Given the description of an element on the screen output the (x, y) to click on. 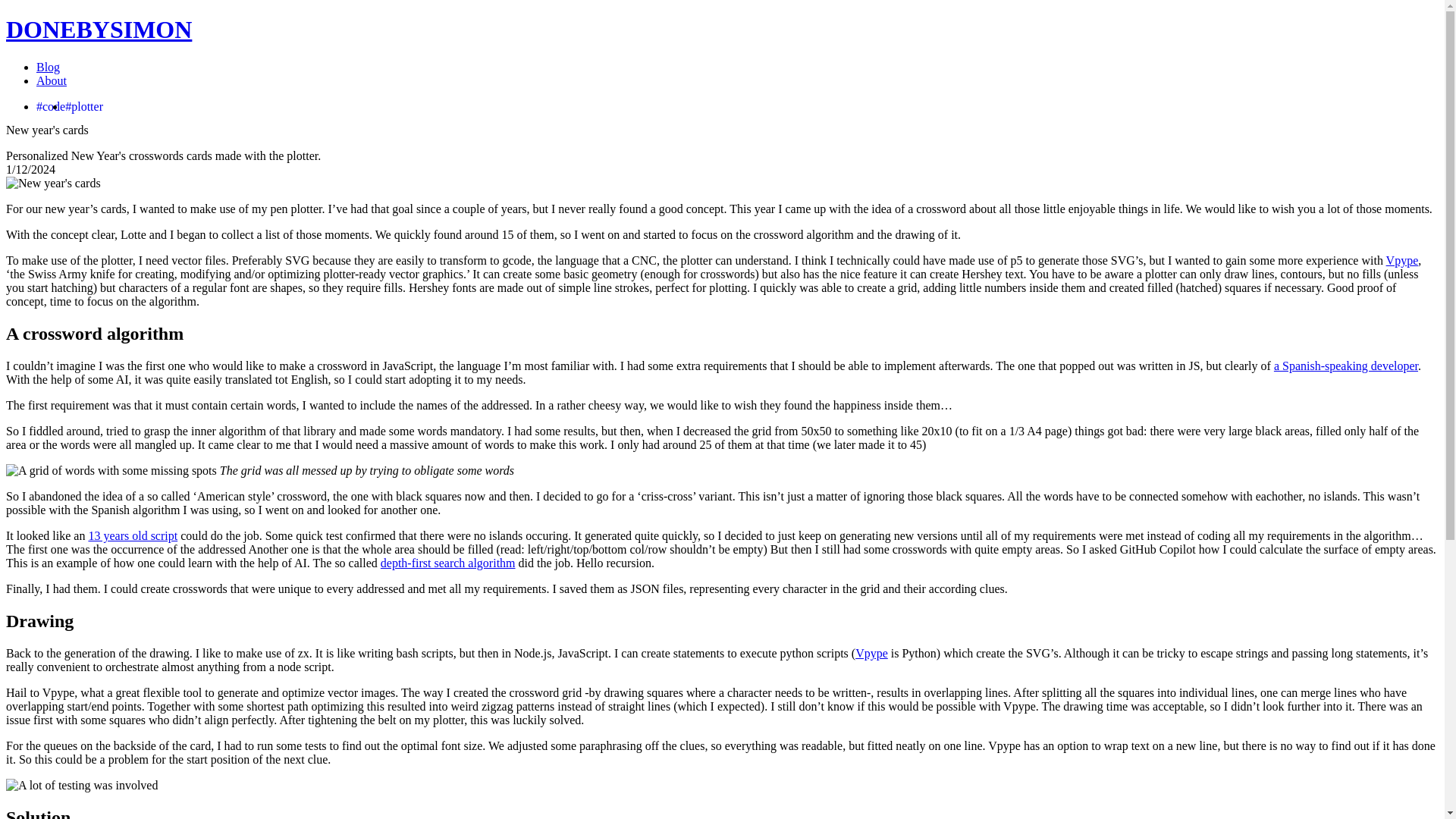
depth-first search algorithm (447, 562)
Vpype (1402, 259)
a Spanish-speaking developer (1346, 365)
13 years old script (132, 535)
DONEBYSIMON (98, 29)
About (51, 80)
Blog (47, 66)
Vpype (872, 653)
